Given the description of an element on the screen output the (x, y) to click on. 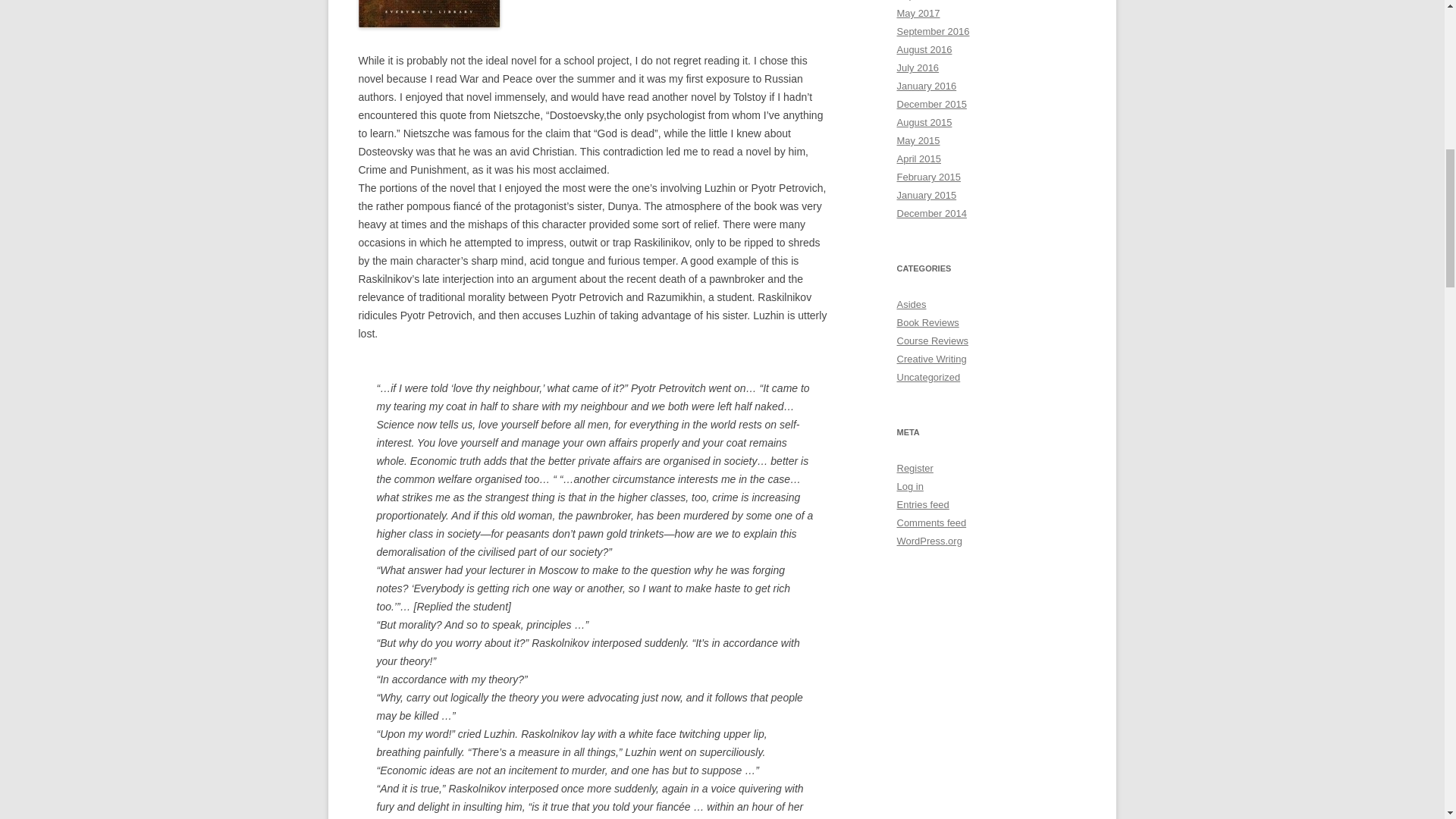
September 2016 (932, 30)
August 2016 (924, 49)
January 2016 (926, 85)
May 2017 (917, 12)
July 2016 (917, 67)
